Given the description of an element on the screen output the (x, y) to click on. 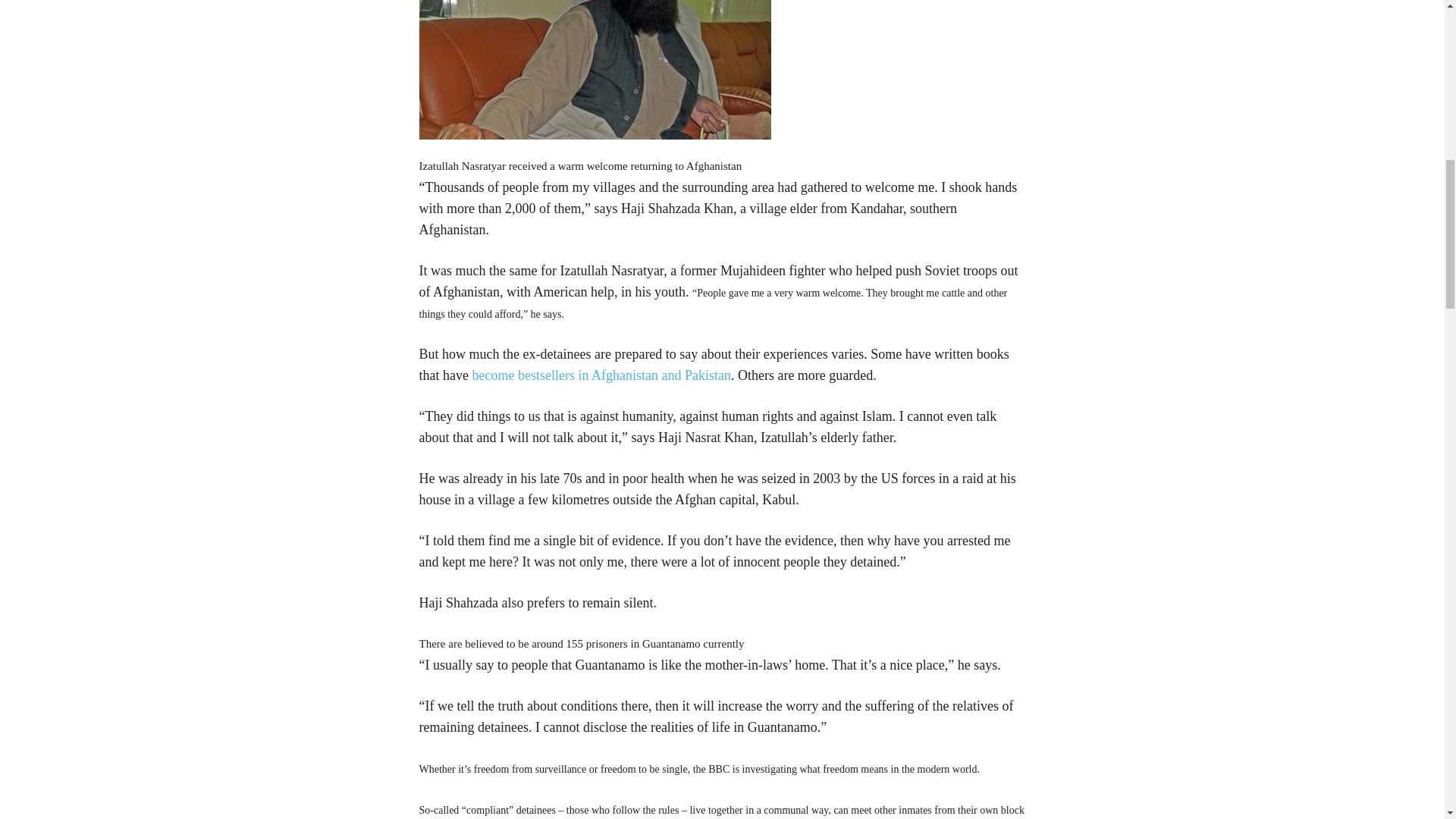
BBC News (600, 375)
